Given the description of an element on the screen output the (x, y) to click on. 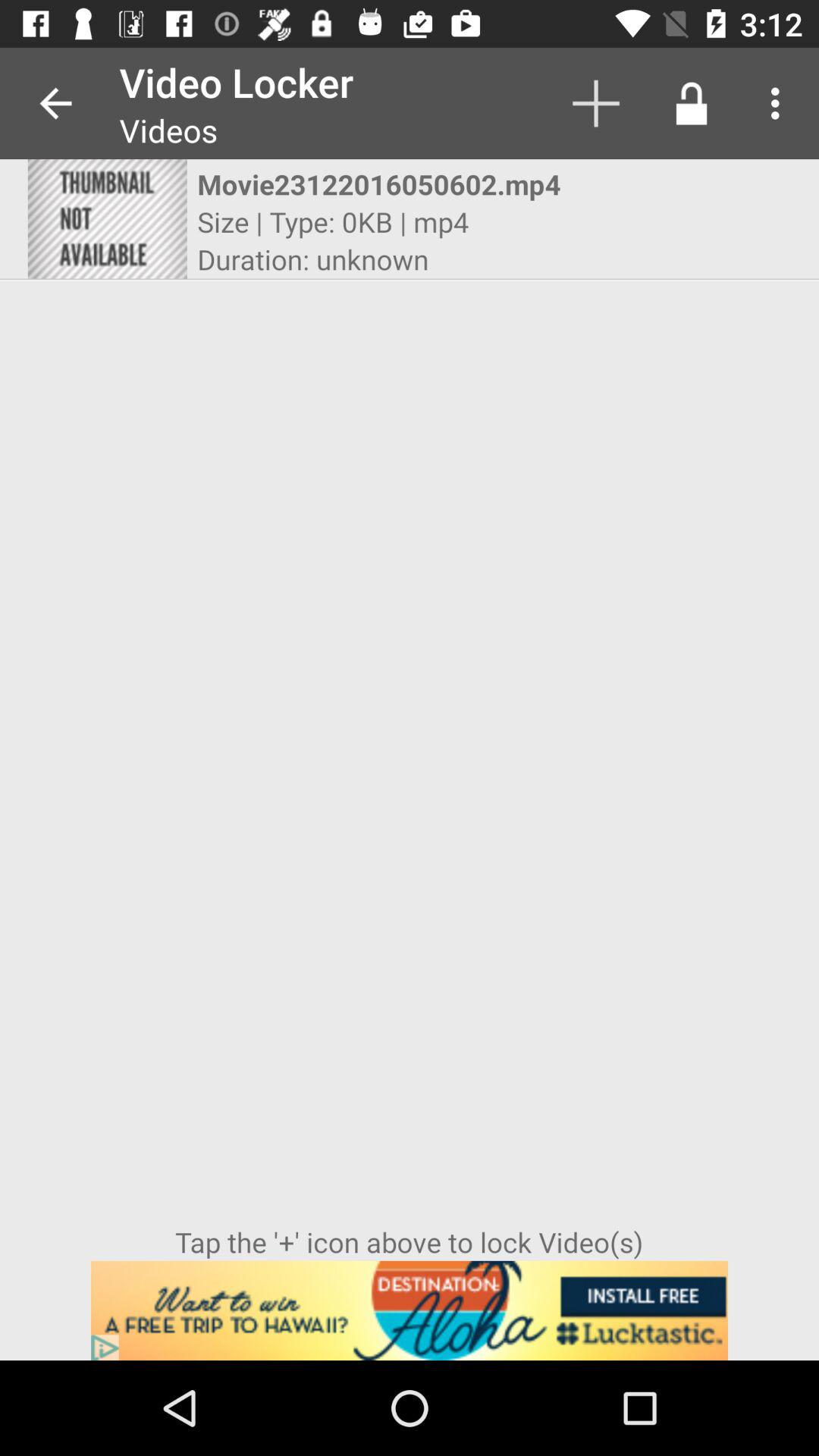
click to view advertisement (409, 1310)
